Given the description of an element on the screen output the (x, y) to click on. 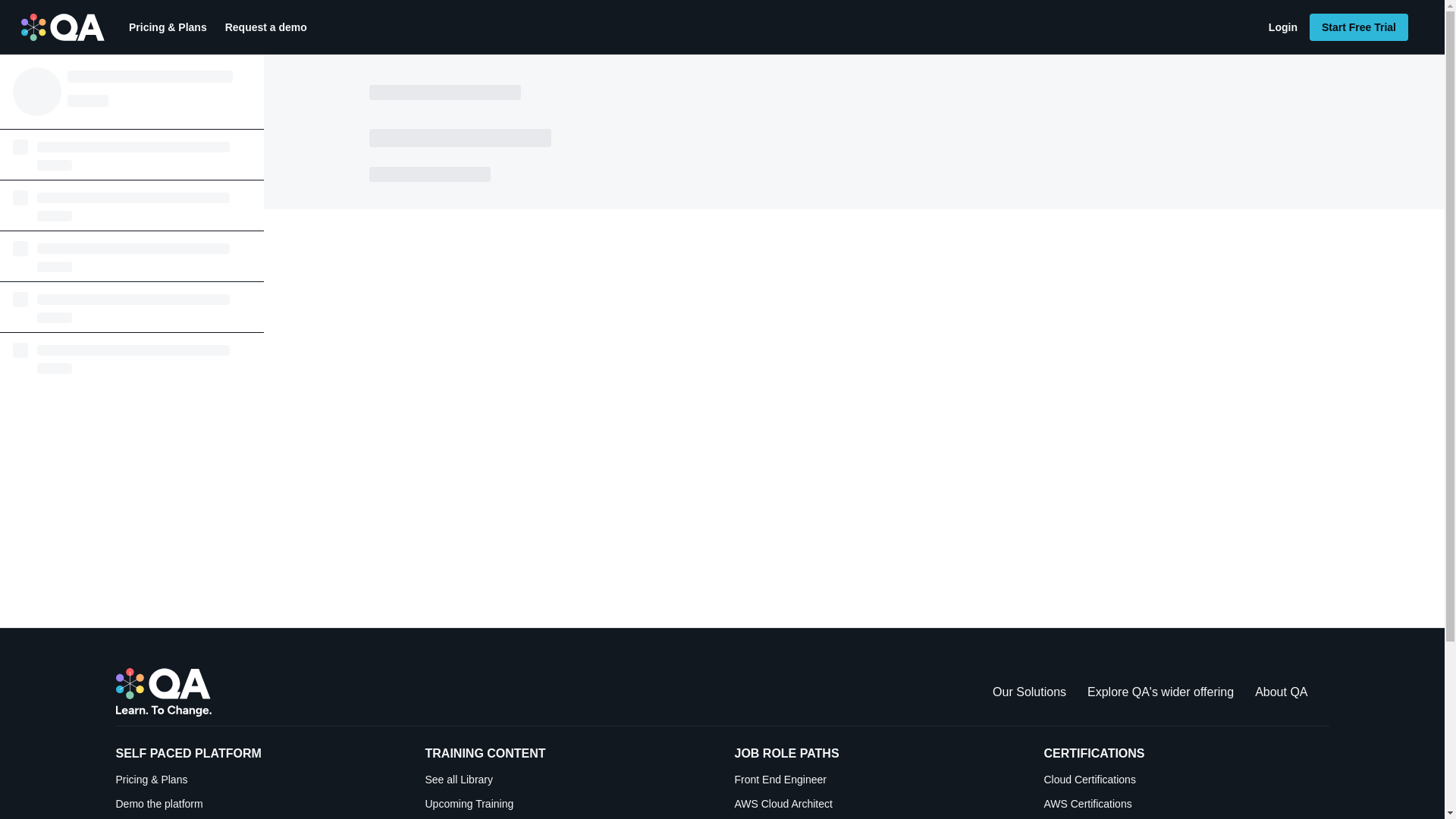
Upcoming Training (567, 803)
Login (1282, 26)
Start Free Trial (1357, 26)
Cloud Certifications (1185, 779)
Demo the platform (257, 803)
AWS Cloud Architect (876, 803)
Explore QA's wider offering (1160, 692)
AWS Certifications (1185, 803)
See all Library (567, 779)
Front End Engineer (876, 779)
